Given the description of an element on the screen output the (x, y) to click on. 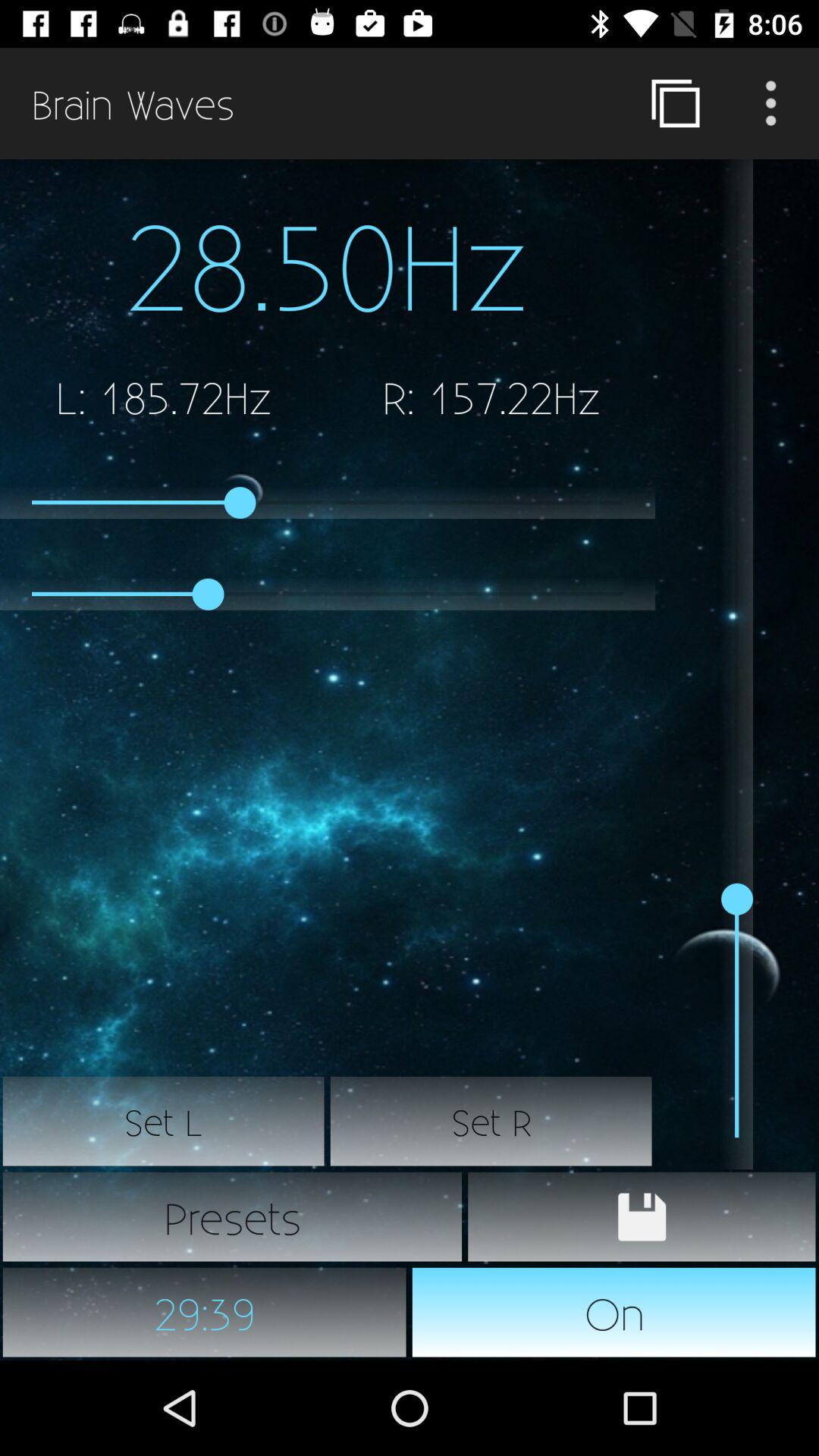
open the item below presets item (614, 1312)
